Given the description of an element on the screen output the (x, y) to click on. 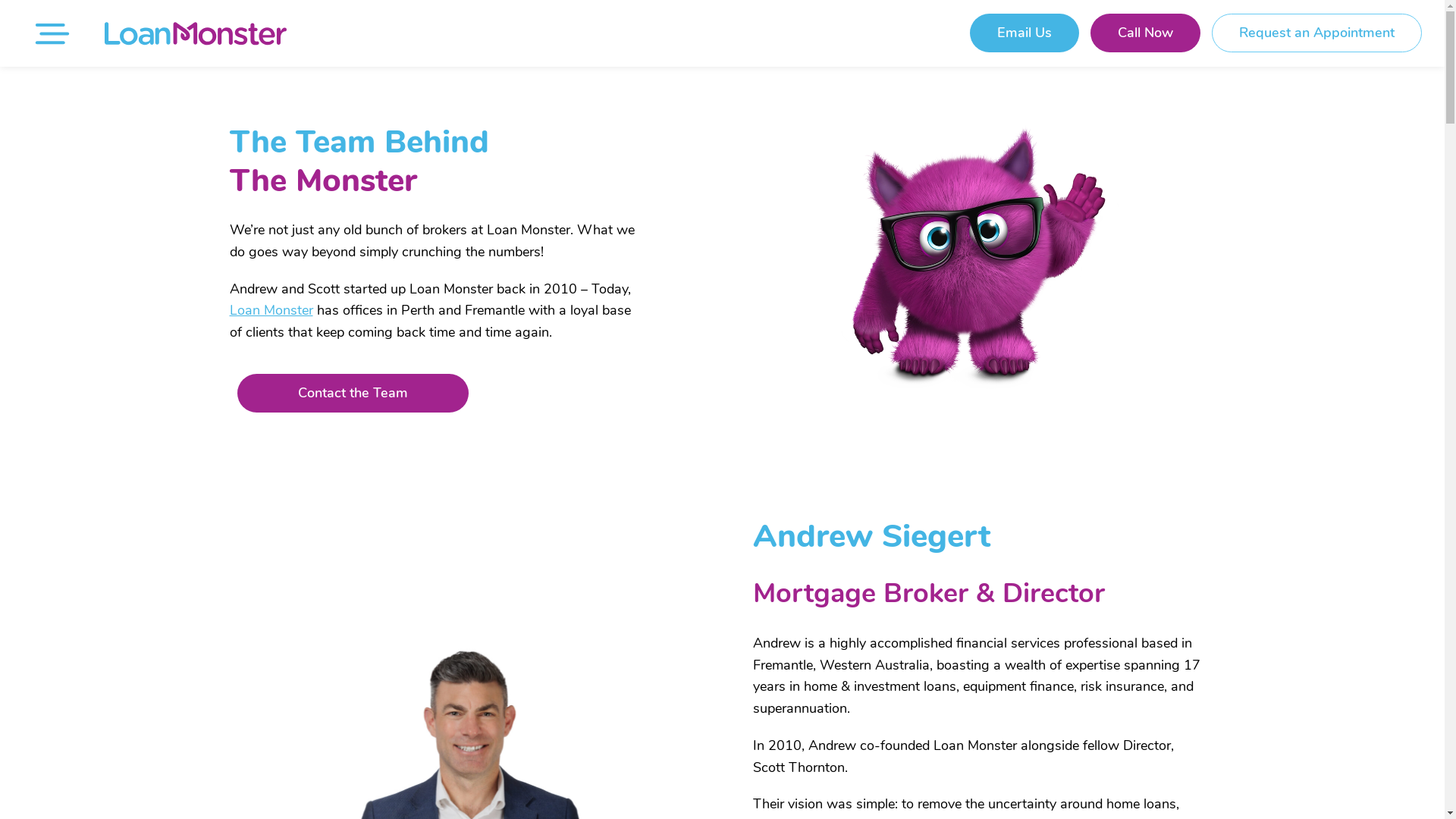
Call Now Element type: text (1145, 32)
Email Us Element type: text (1024, 32)
Loan Monster Element type: text (270, 310)
Contact the Team Element type: text (352, 392)
Request an Appointment Element type: text (1316, 32)
